Given the description of an element on the screen output the (x, y) to click on. 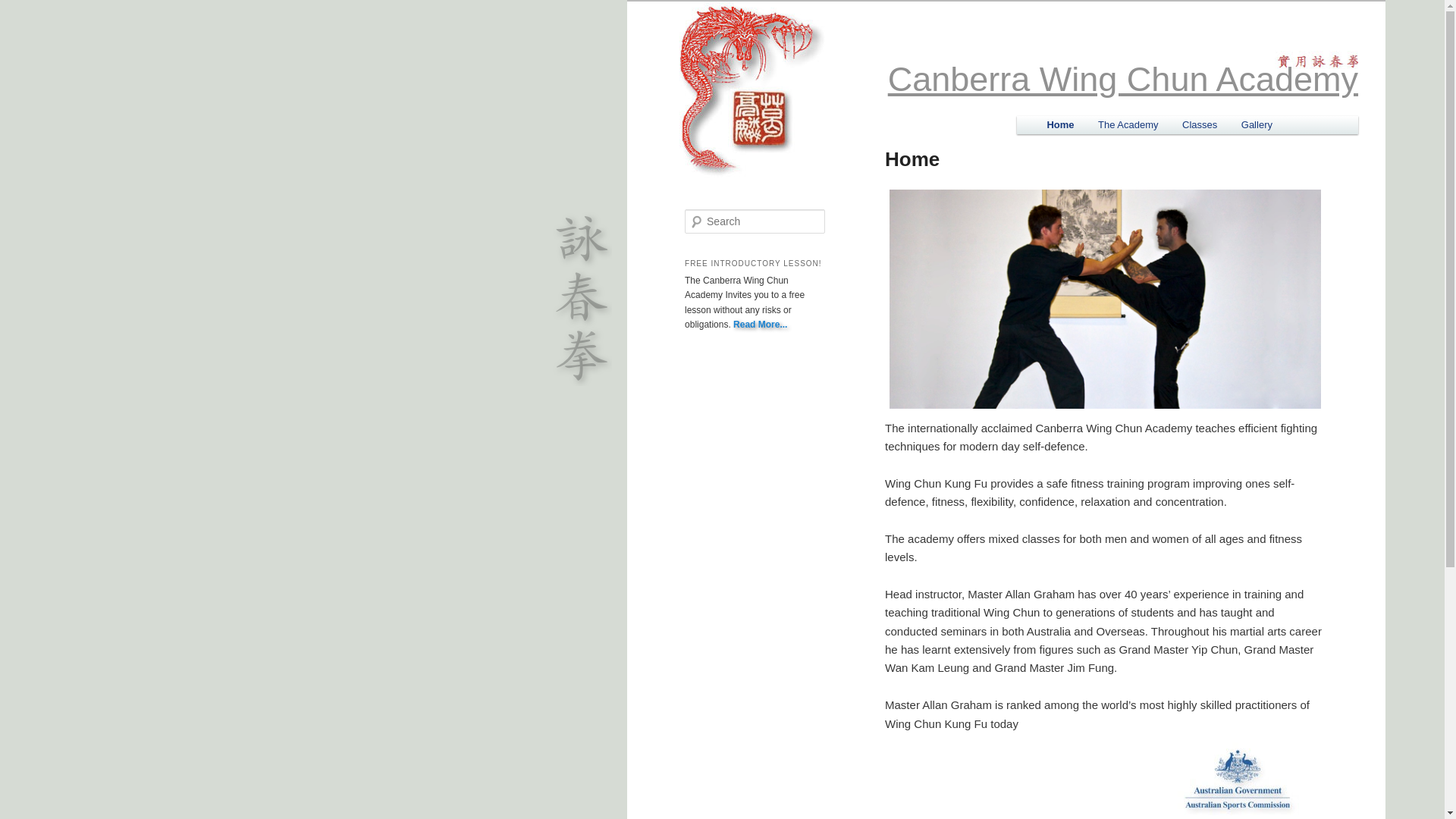
The Academy Element type: text (1127, 124)
Search Element type: text (20, 10)
Gallery Element type: text (1256, 124)
Skip to primary content Element type: text (1114, 126)
Read More... Element type: text (760, 324)
Canberra Wing Chun Academy Element type: text (1123, 78)
Home Element type: text (1060, 124)
Classes Element type: text (1199, 124)
Skip to secondary content Element type: text (1121, 126)
